Given the description of an element on the screen output the (x, y) to click on. 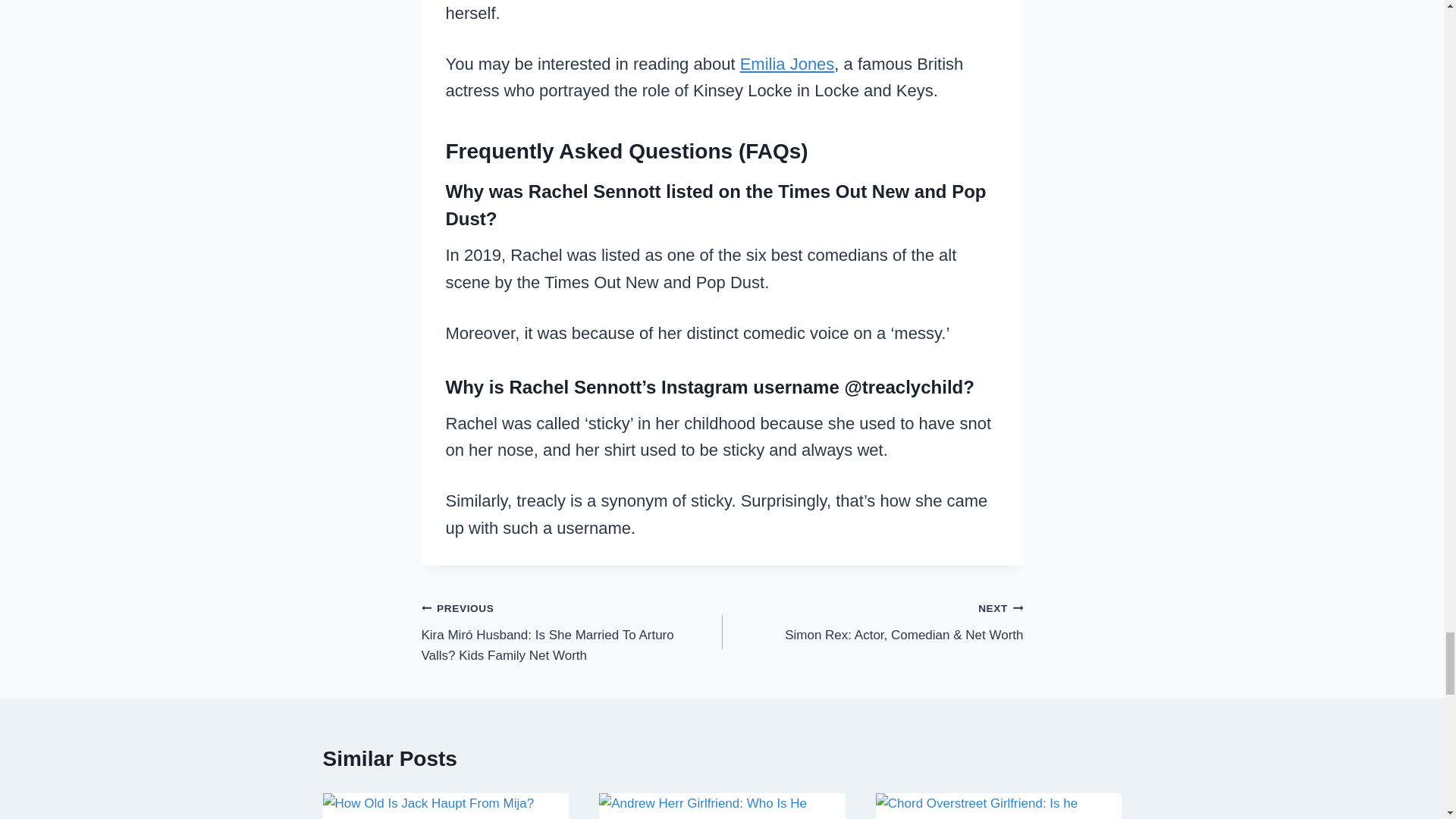
Emilia Jones (786, 63)
